Given the description of an element on the screen output the (x, y) to click on. 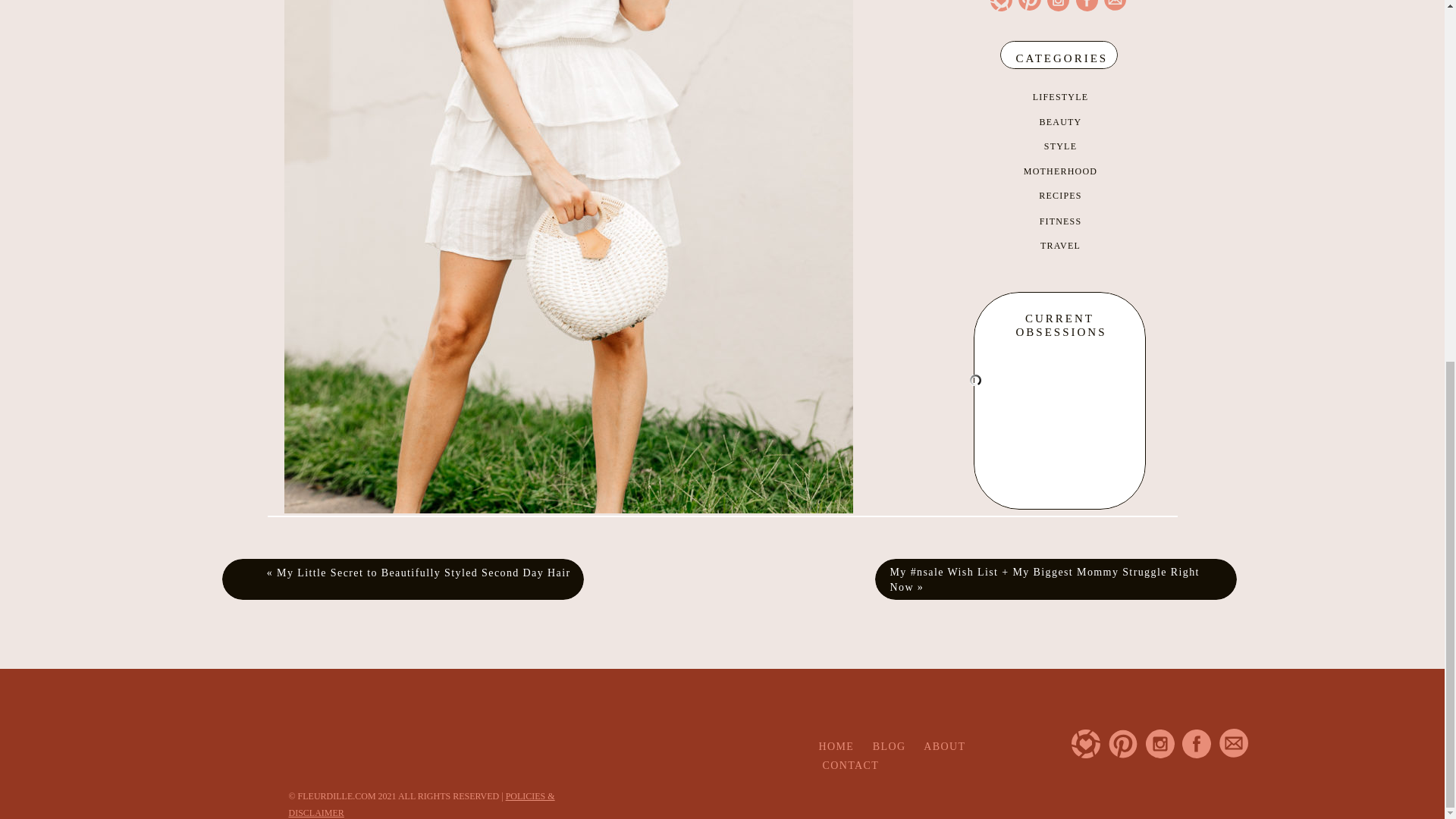
TRAVEL (1060, 245)
RECIPES (1060, 195)
Asos (682, 645)
LIFESTYLE (1059, 96)
FITNESS (1060, 221)
